Given the description of an element on the screen output the (x, y) to click on. 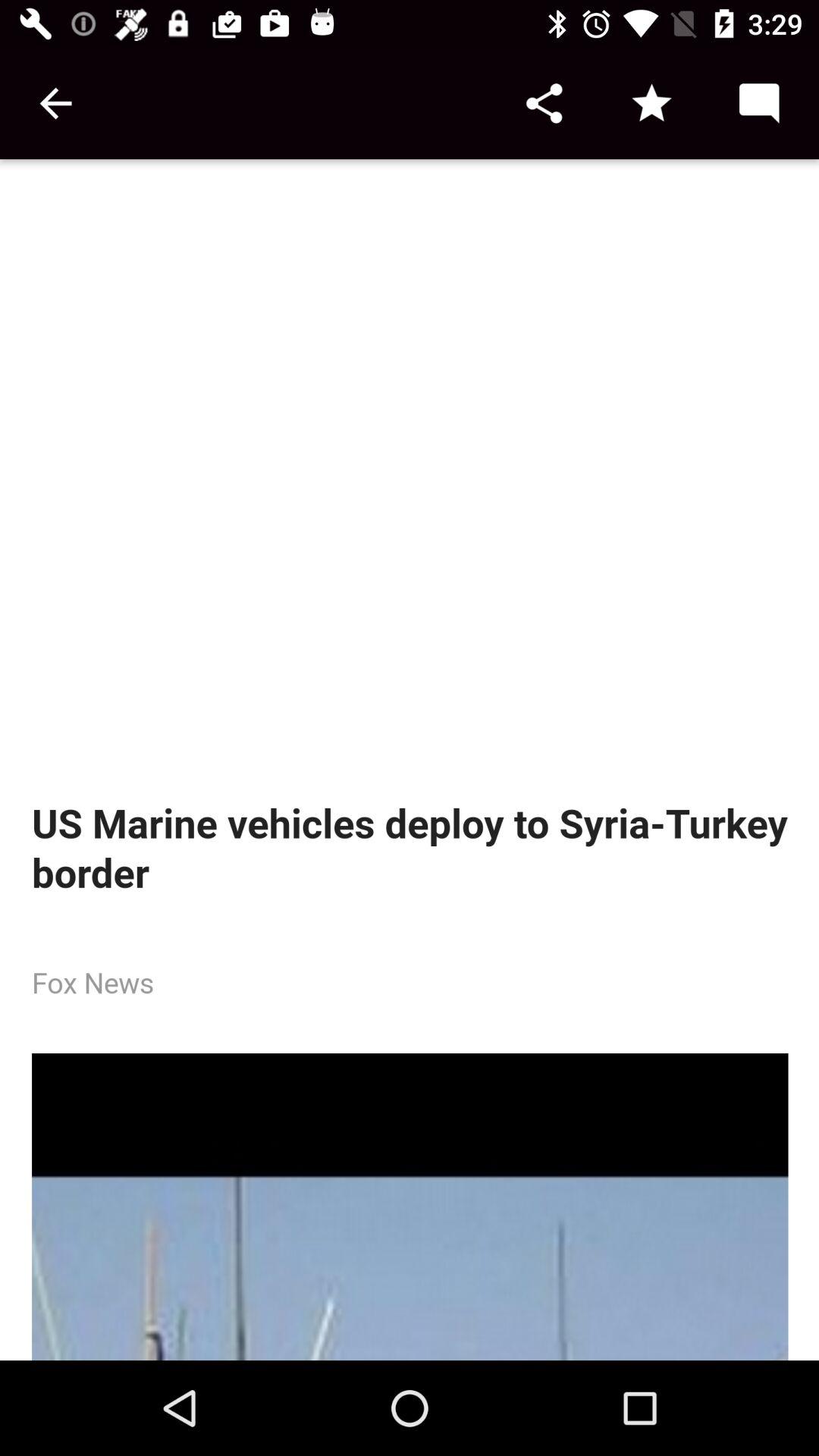
chat function (758, 103)
